Given the description of an element on the screen output the (x, y) to click on. 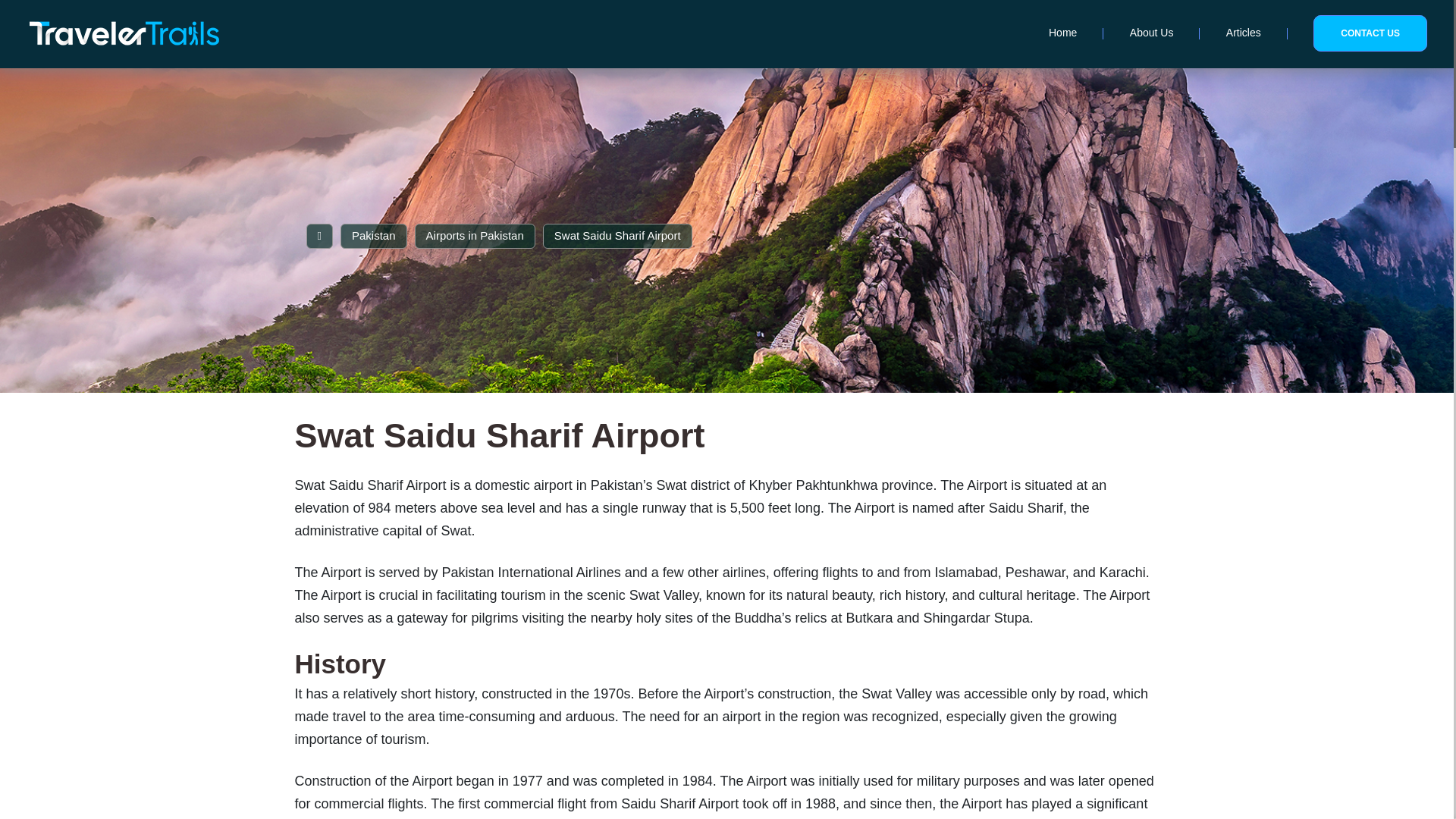
Home (1062, 32)
About Us (1151, 32)
Articles (1242, 32)
Airports in Pakistan (475, 235)
Pakistan (374, 235)
CONTACT US (1369, 33)
